Given the description of an element on the screen output the (x, y) to click on. 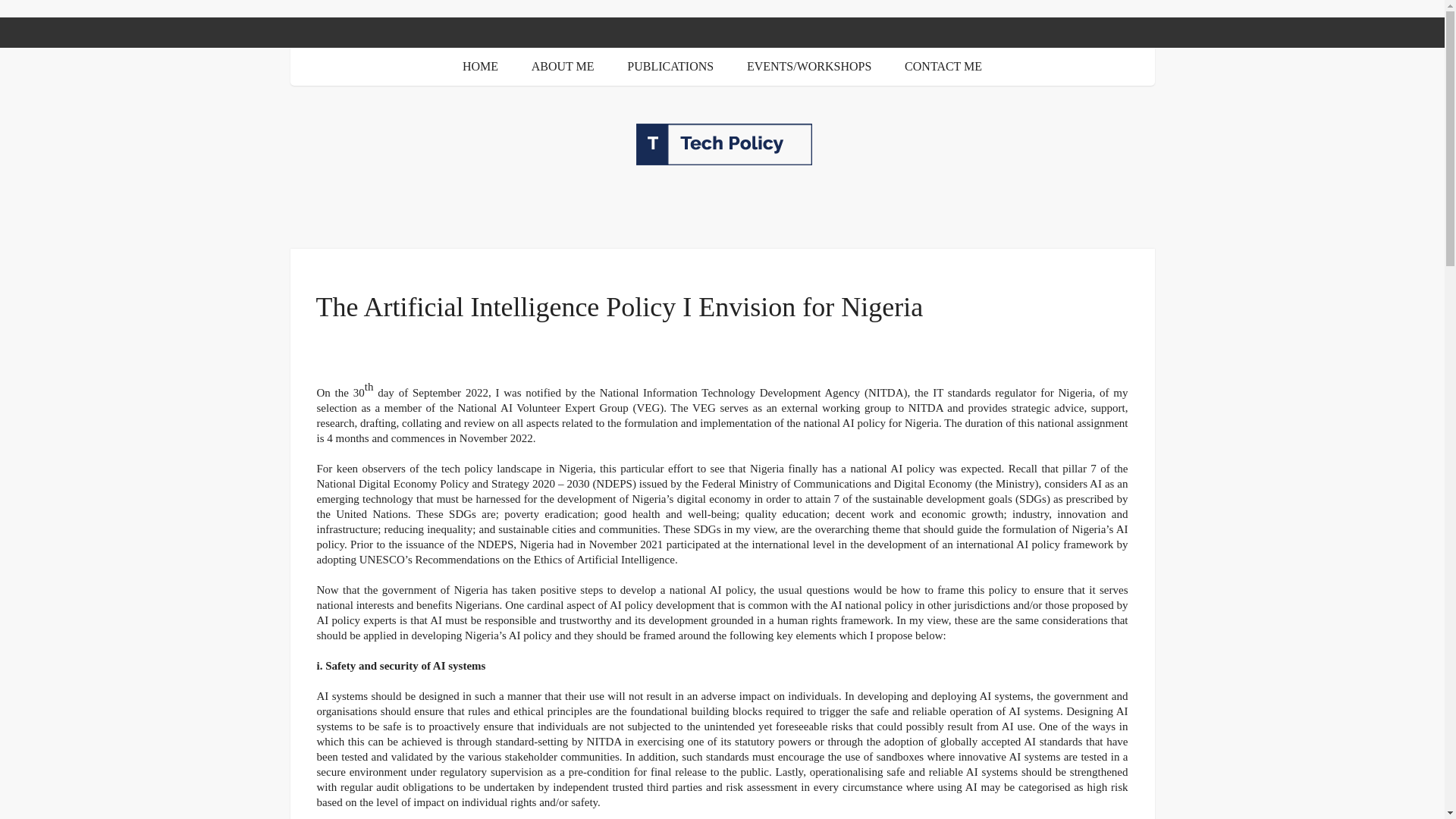
HOME (480, 65)
Tech Policy - Chukwuyere Ebere Izuogu (721, 143)
ABOUT ME (562, 65)
CONTACT ME (942, 65)
PUBLICATIONS (670, 65)
